Given the description of an element on the screen output the (x, y) to click on. 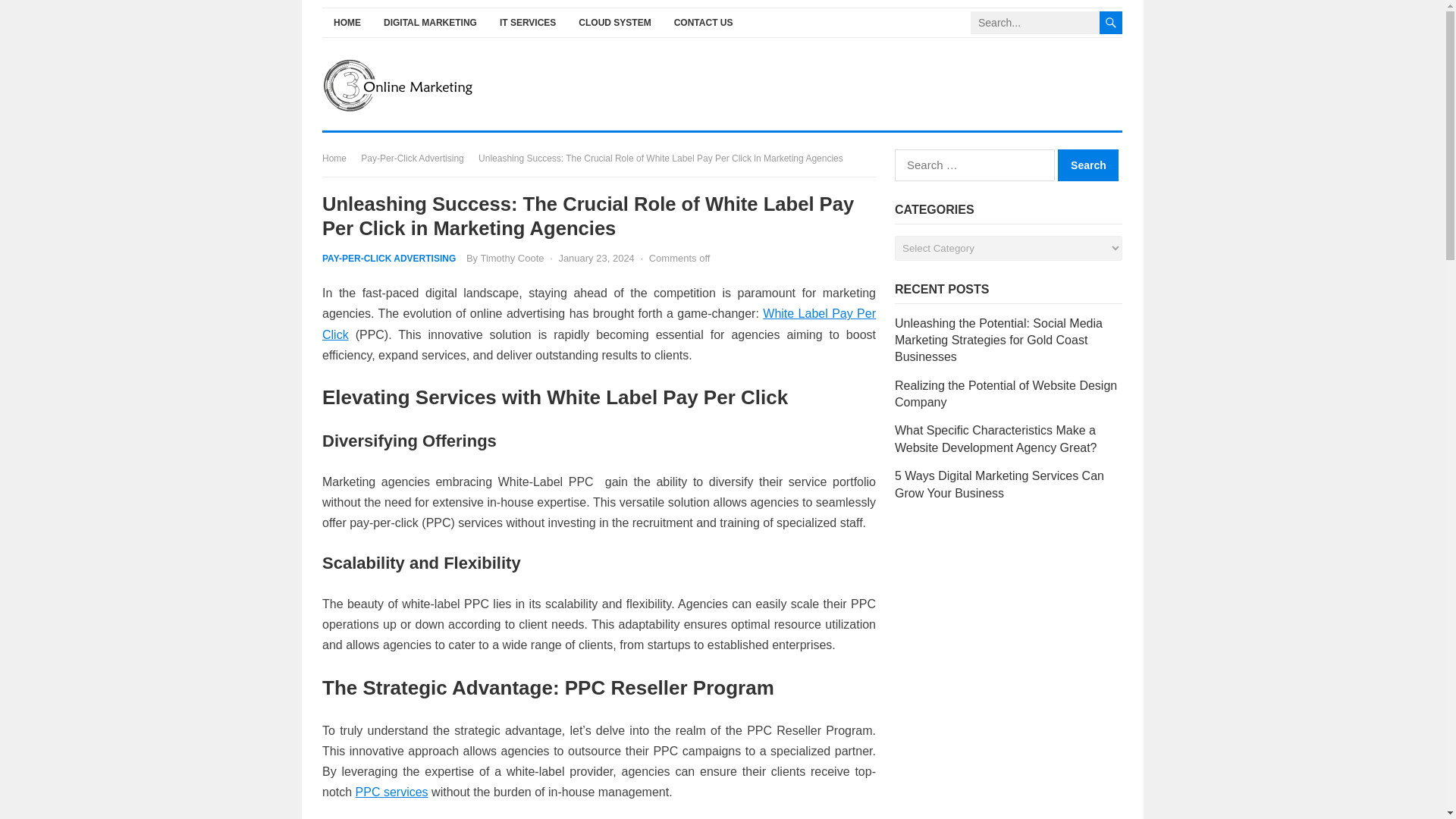
PPC services (391, 791)
Posts by Timothy Coote (511, 257)
PAY-PER-CLICK ADVERTISING (388, 258)
Search (1088, 164)
Home (338, 158)
CONTACT US (703, 22)
IT SERVICES (527, 22)
Timothy Coote (511, 257)
CLOUD SYSTEM (614, 22)
DIGITAL MARKETING (429, 22)
